Given the description of an element on the screen output the (x, y) to click on. 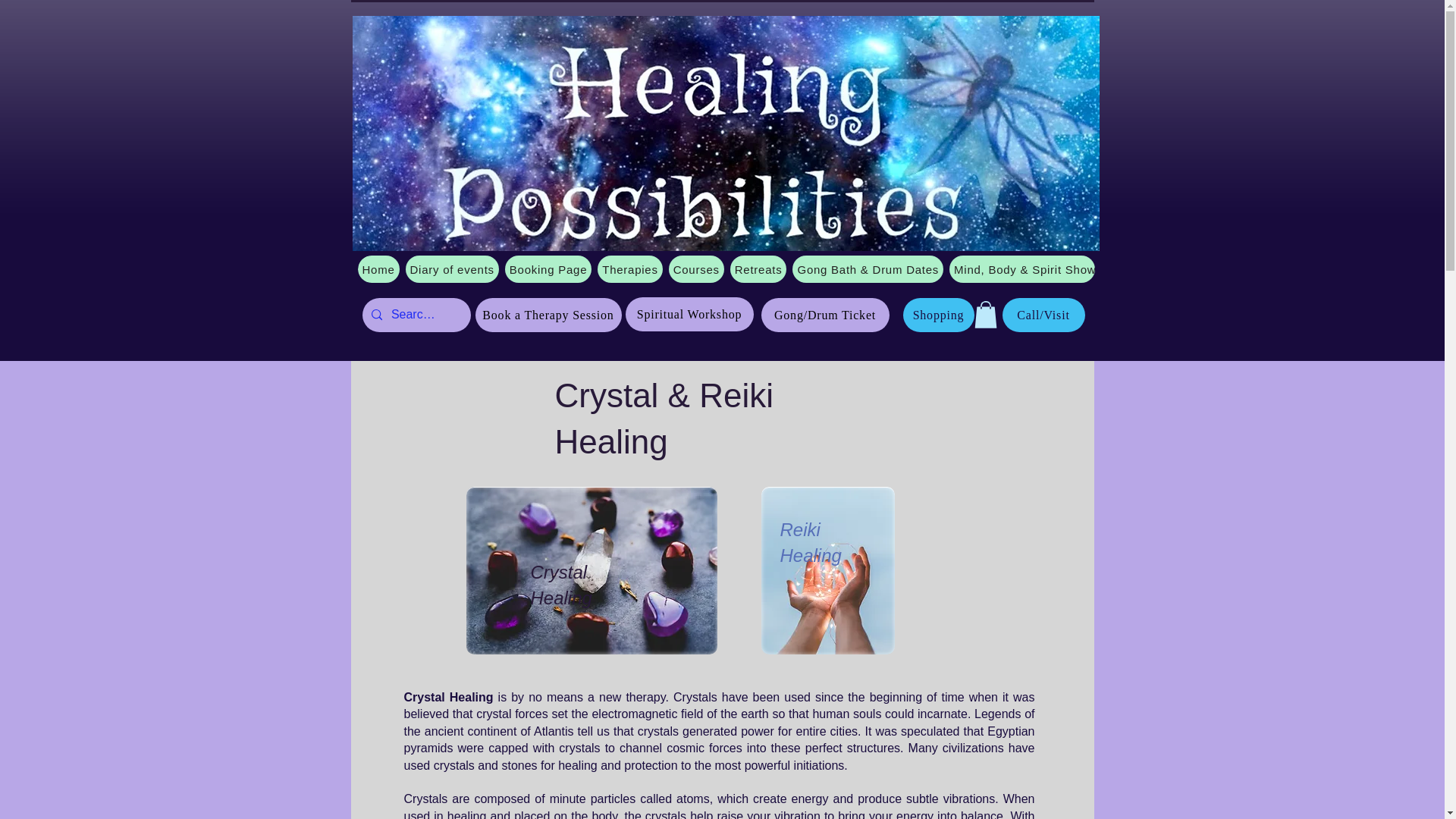
Home (378, 268)
Spiritual Workshop (688, 314)
Diary of events (452, 268)
Book a Therapy Session (547, 315)
Booking Page (548, 268)
Therapies (629, 268)
Courses (695, 268)
Shopping (938, 315)
Retreats (758, 268)
